Given the description of an element on the screen output the (x, y) to click on. 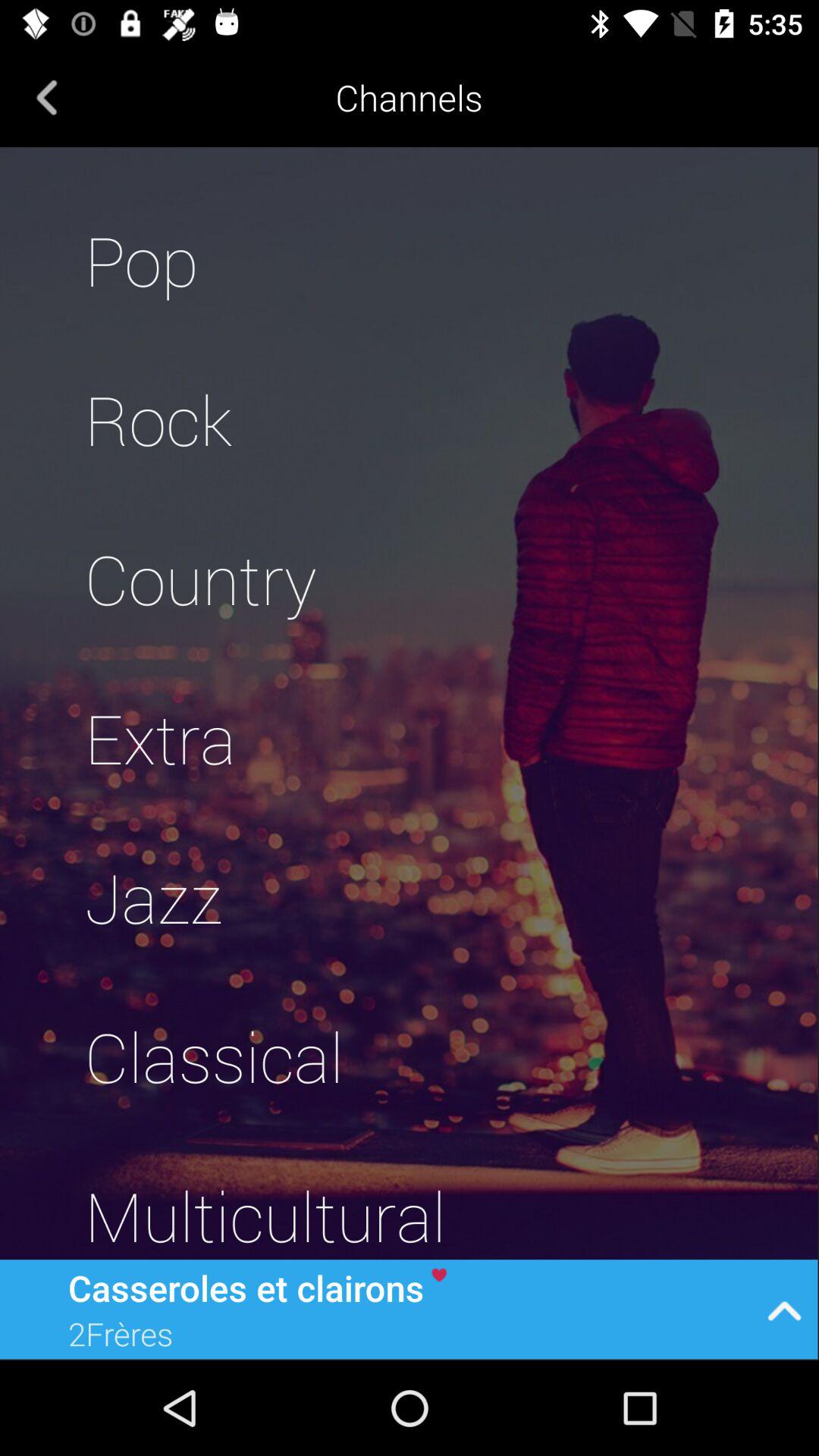
click icon below multicultural icon (784, 1309)
